Given the description of an element on the screen output the (x, y) to click on. 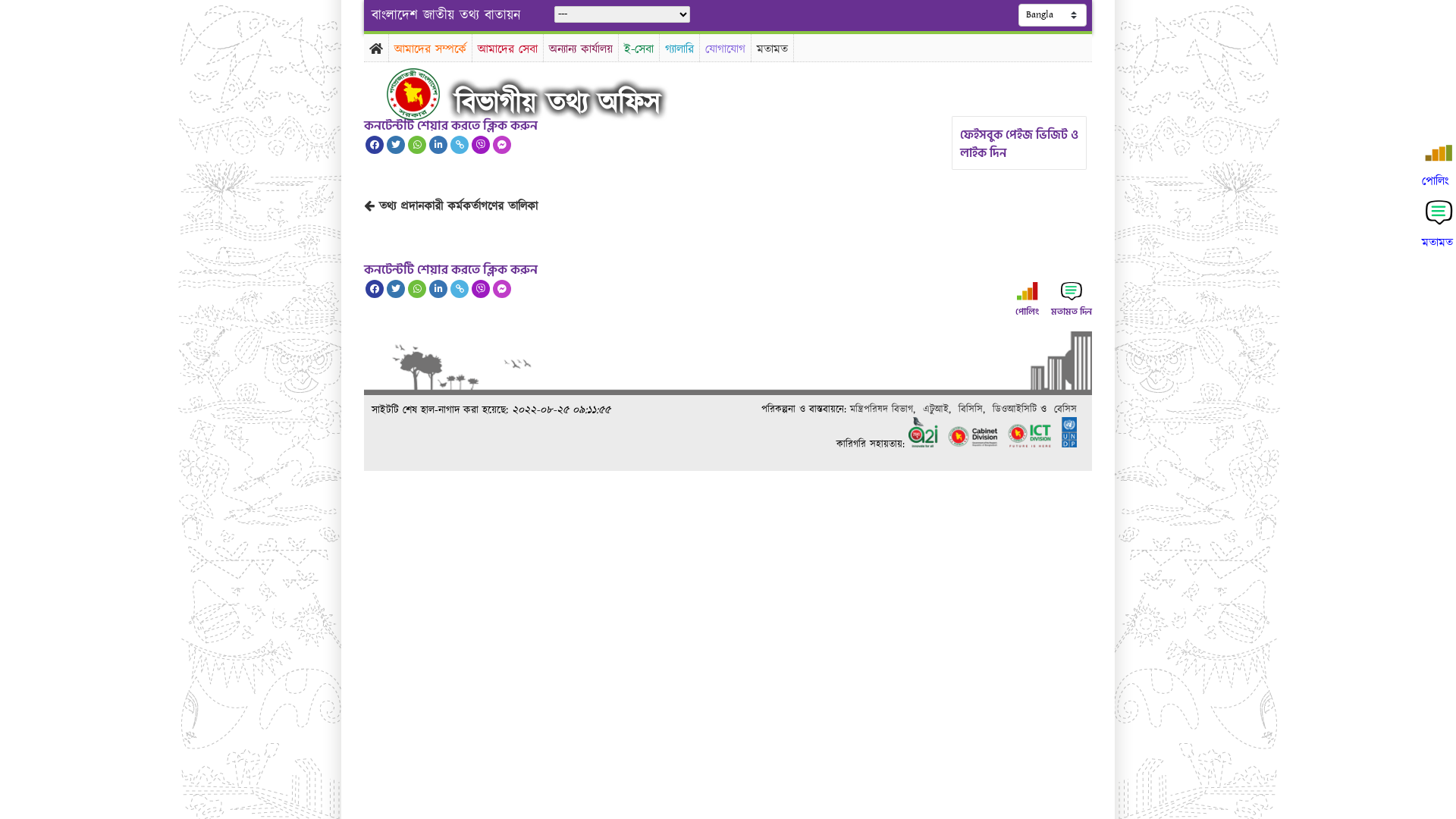

                
             Element type: hover (426, 93)
